Given the description of an element on the screen output the (x, y) to click on. 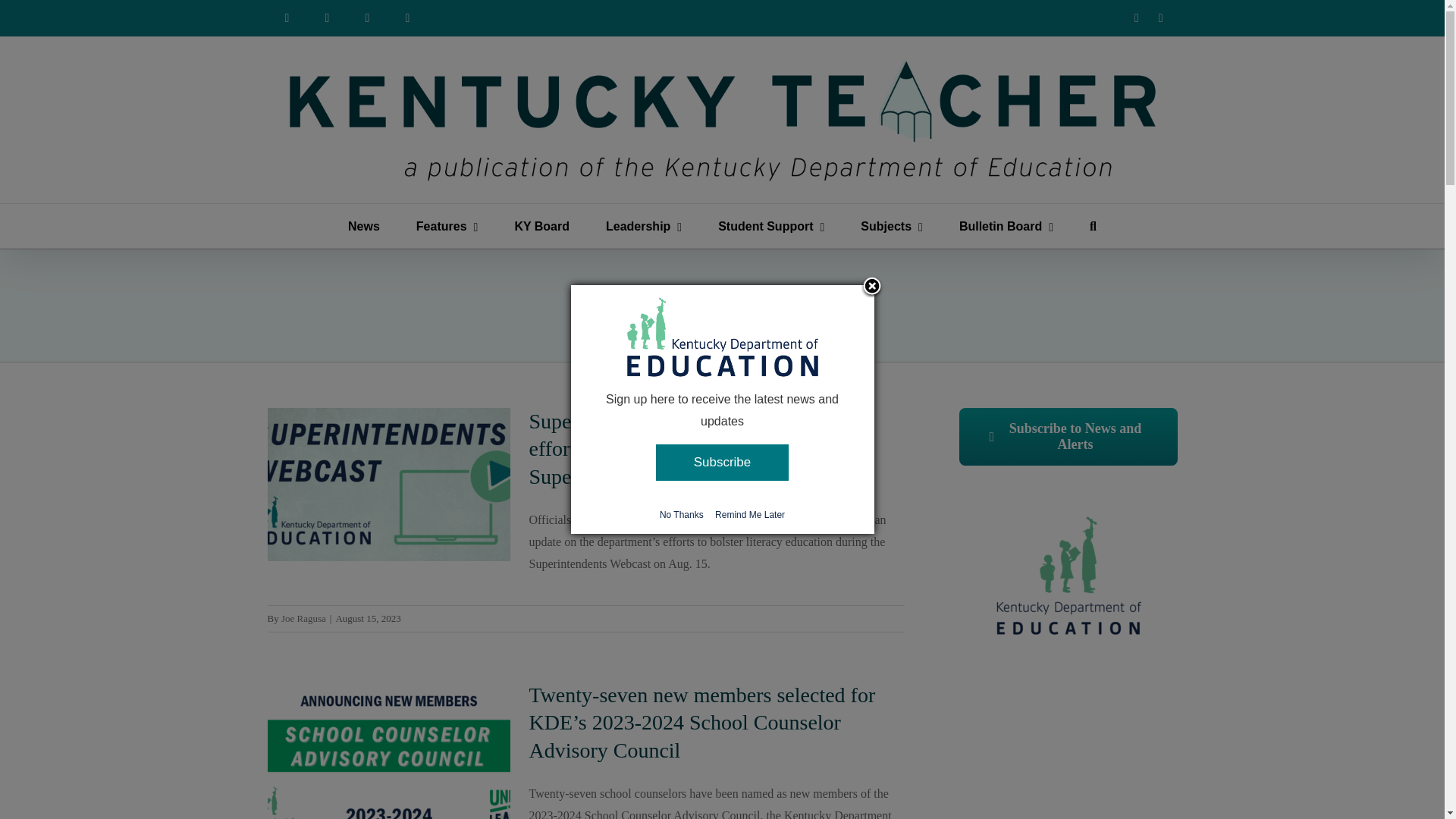
Leadership (643, 225)
About (327, 18)
Posts by Joe Ragusa (303, 618)
Subjects (891, 225)
KY Board (541, 225)
Contact (408, 18)
Staff (367, 18)
Bulletin Board (1005, 225)
Home (285, 18)
Student Support (770, 225)
Features (447, 225)
